Given the description of an element on the screen output the (x, y) to click on. 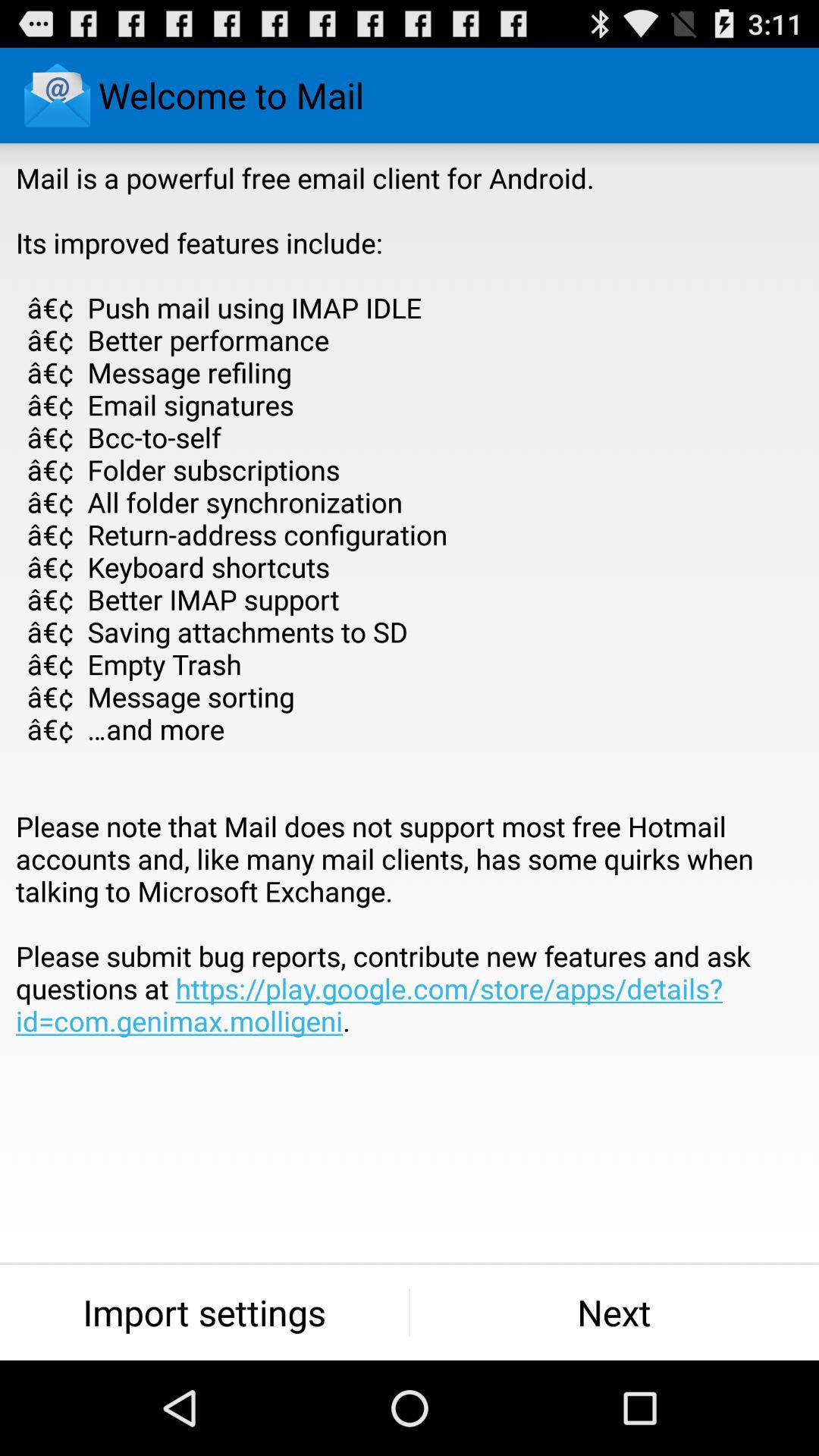
open the icon at the bottom right corner (614, 1312)
